Given the description of an element on the screen output the (x, y) to click on. 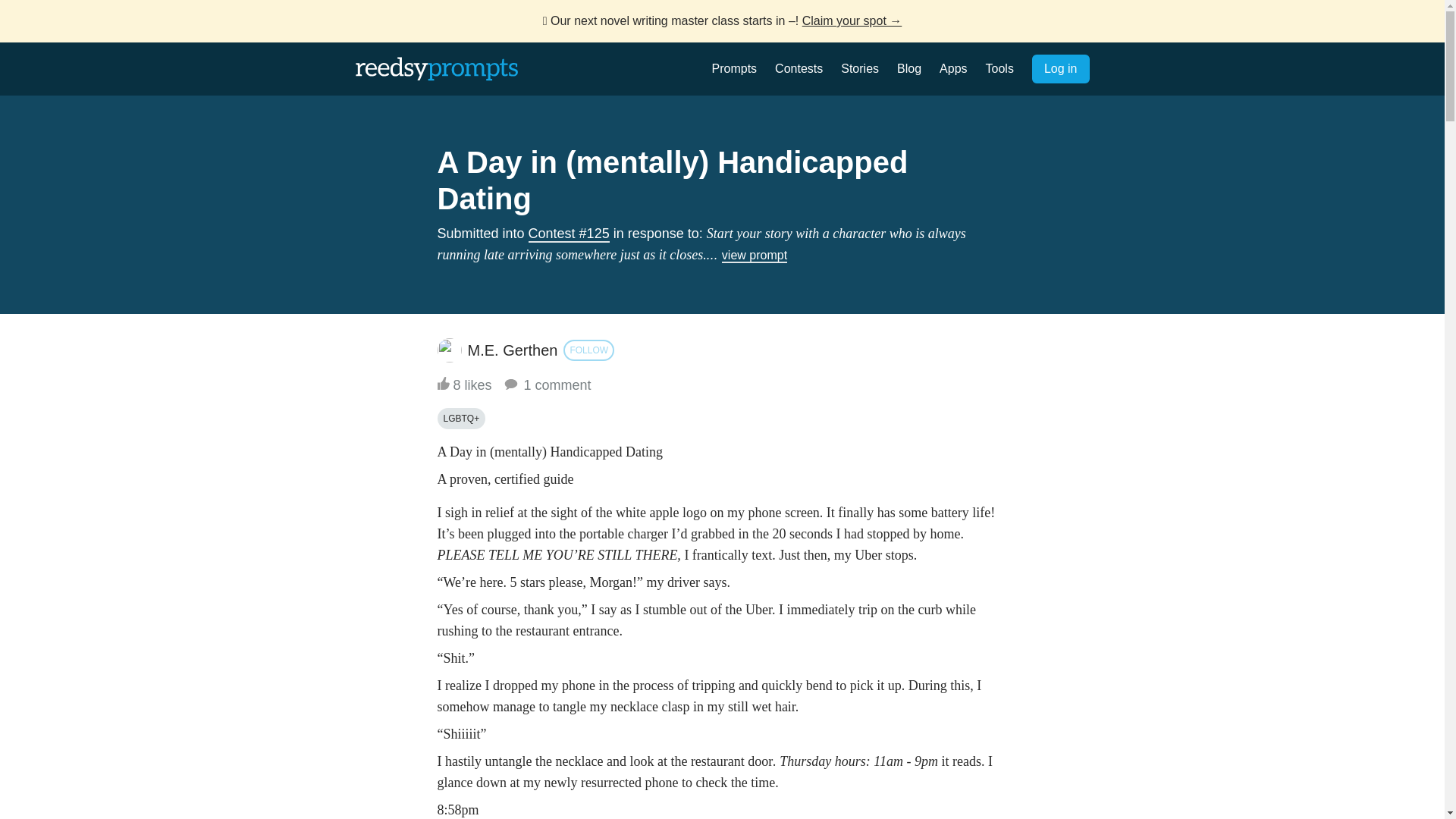
Contests (798, 68)
Stories (860, 68)
Blog (908, 68)
Log in (1060, 68)
1 comment (546, 385)
Tools (999, 68)
Apps (952, 68)
Prompts (734, 68)
